Given the description of an element on the screen output the (x, y) to click on. 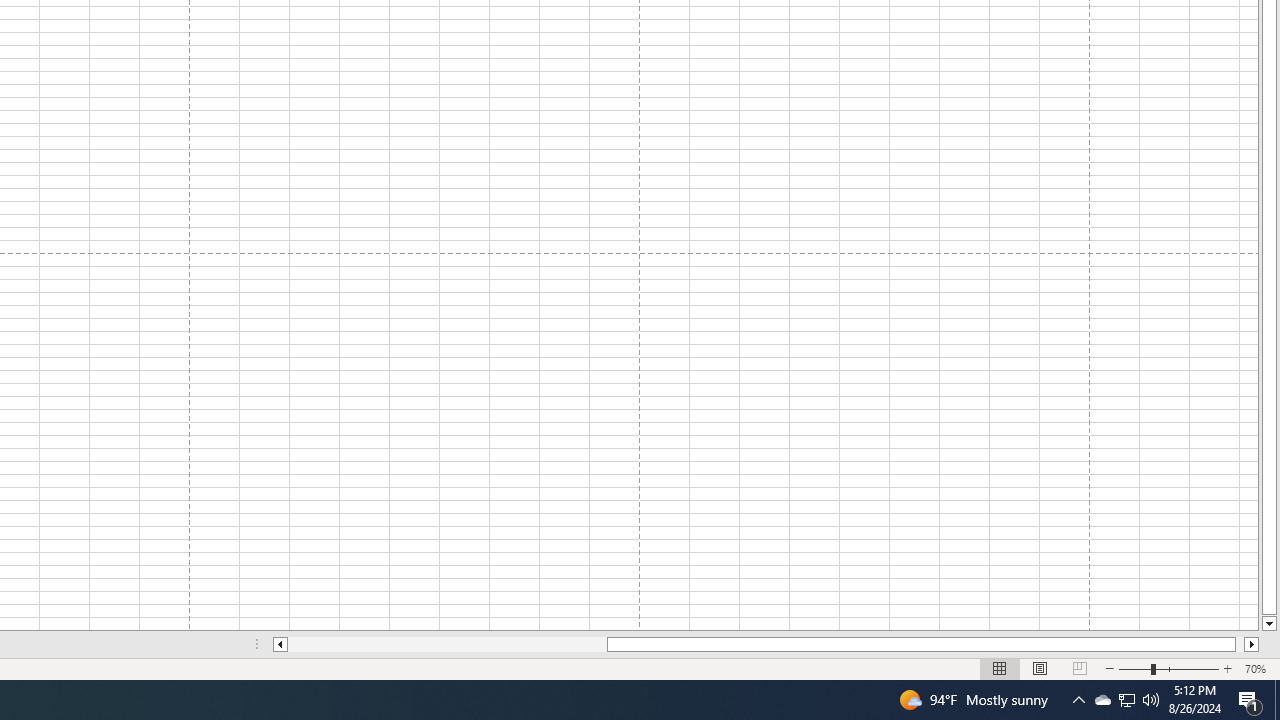
Page right (1240, 644)
Page left (447, 644)
Column left (279, 644)
Class: NetUIScrollBar (765, 644)
Zoom (1168, 668)
Line down (1268, 624)
Zoom In (1227, 668)
Zoom Out (1134, 668)
Normal (1000, 668)
Page Layout (1039, 668)
Page Break Preview (1079, 668)
Column right (1252, 644)
